Given the description of an element on the screen output the (x, y) to click on. 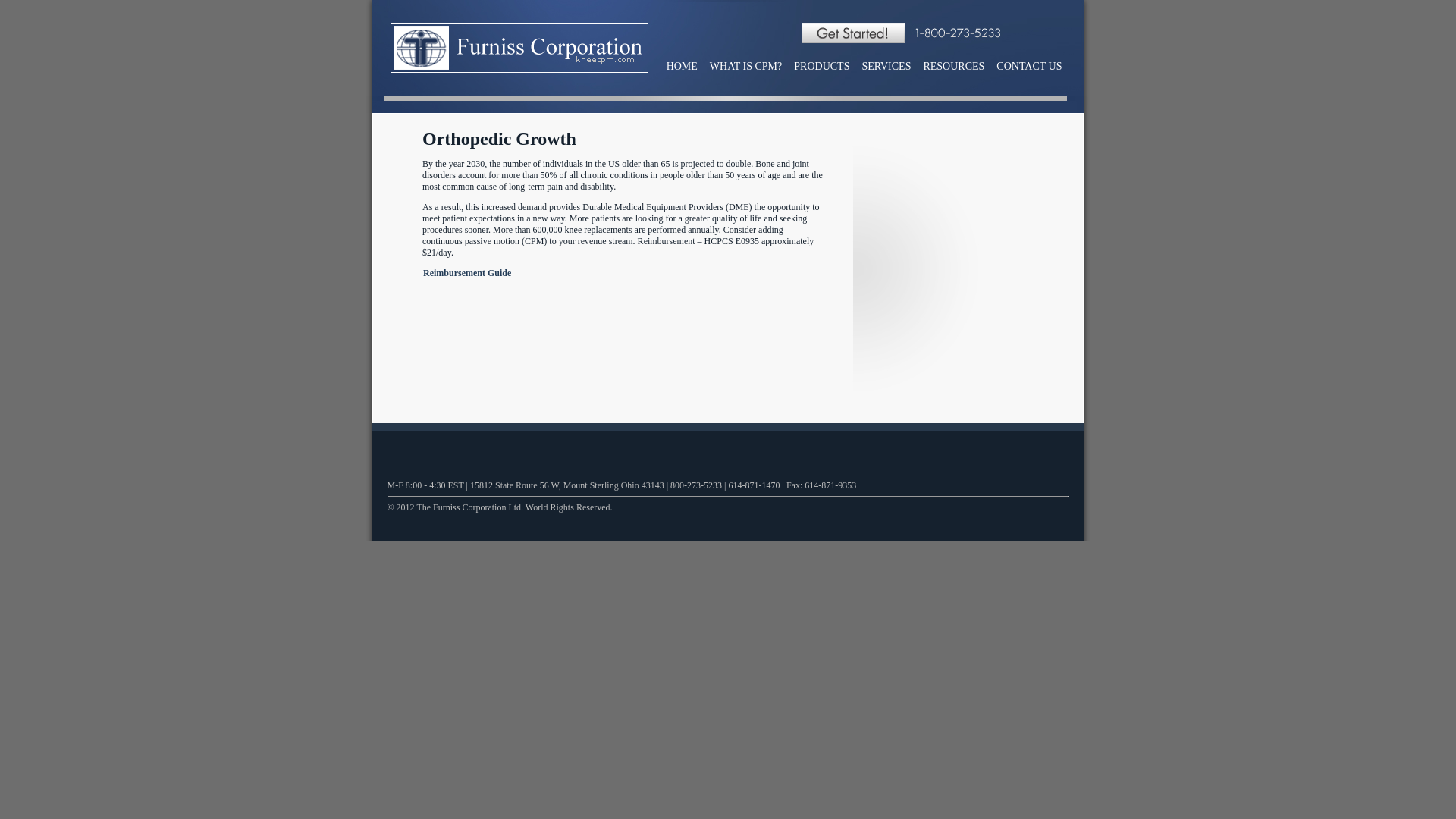
PRODUCTS (827, 66)
RESOURCES (960, 66)
CONTACT US (1035, 66)
HOME (688, 66)
Reimbursement Guide (467, 272)
WHAT IS CPM? (751, 66)
SERVICES (892, 66)
